Given the description of an element on the screen output the (x, y) to click on. 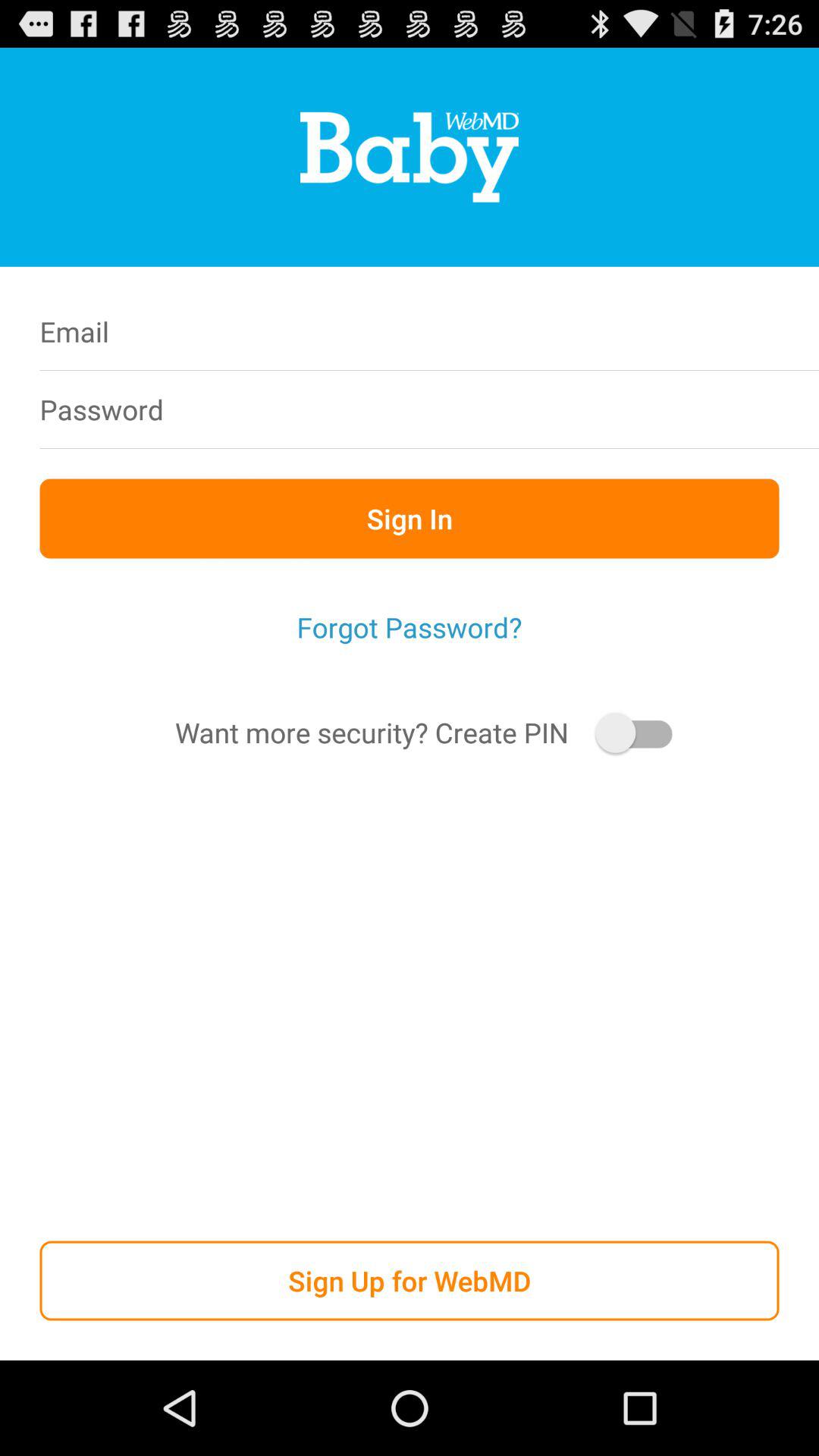
type password (507, 409)
